Given the description of an element on the screen output the (x, y) to click on. 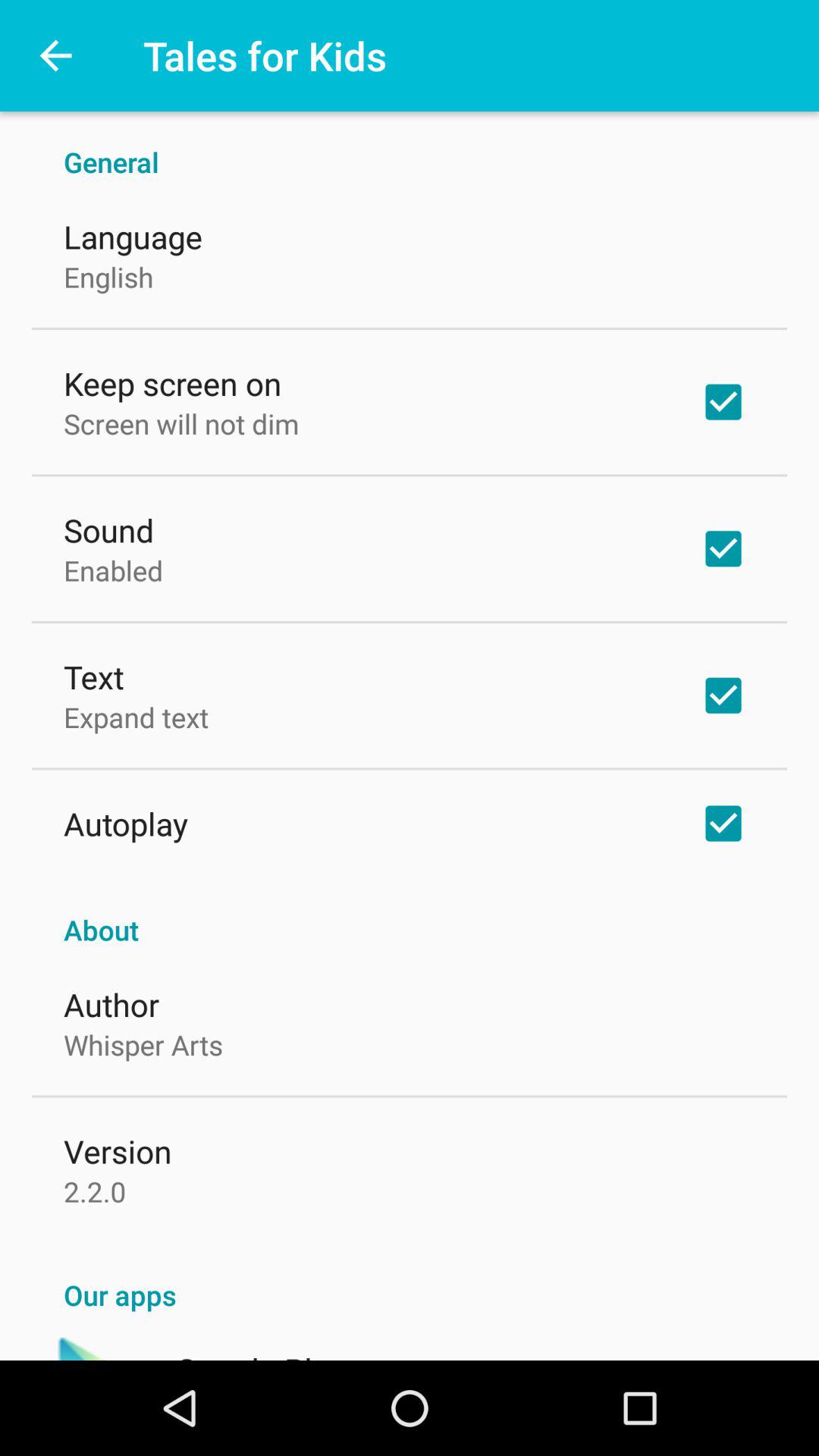
turn on the item below english item (172, 382)
